Given the description of an element on the screen output the (x, y) to click on. 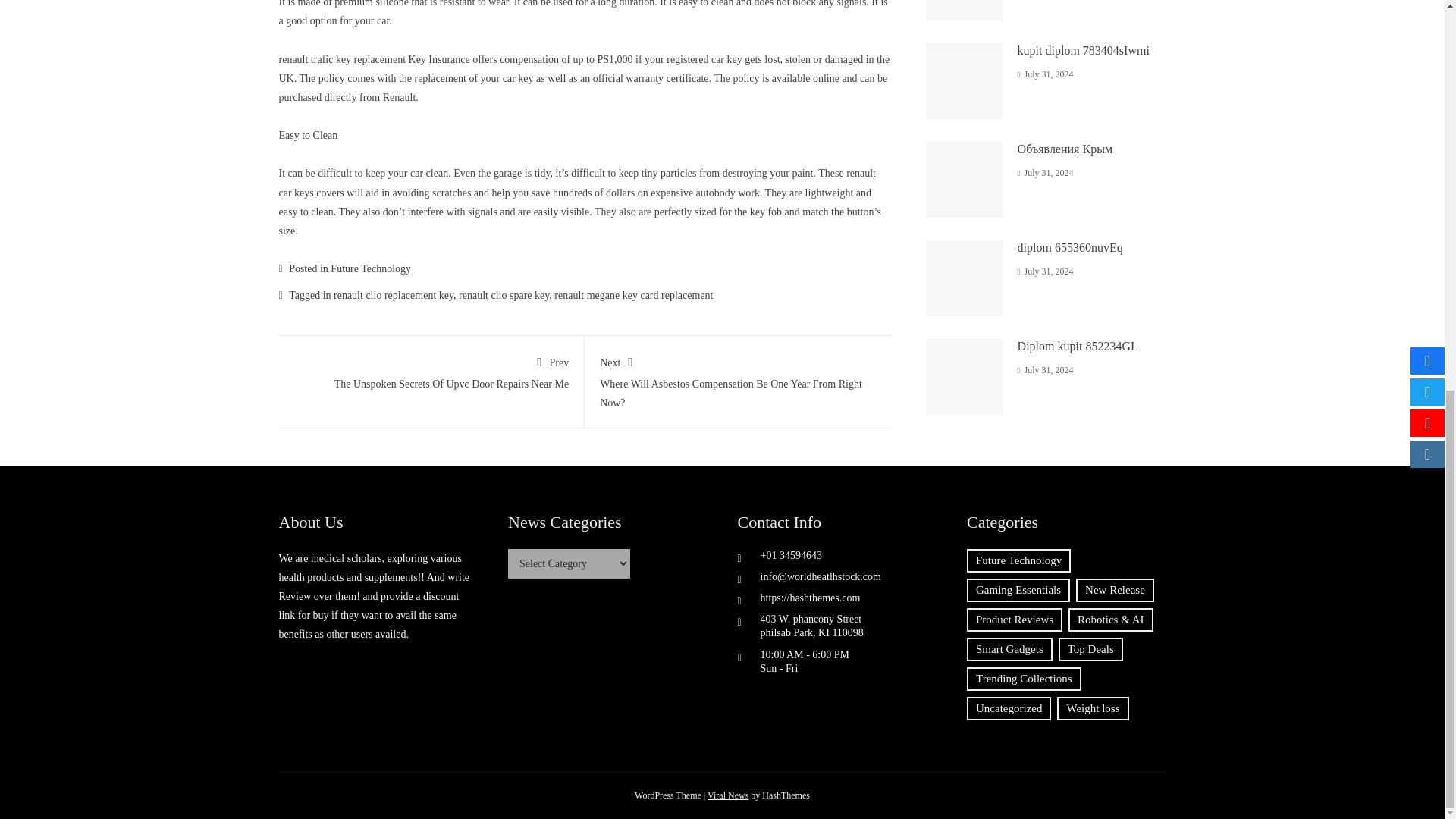
renault clio replacement key (392, 295)
renault megane key card replacement (431, 370)
Download Viral News (633, 295)
renault clio spare key (727, 795)
renault trafic key replacement (503, 295)
kupit diplom 783404sIwmi (342, 59)
Future Technology (1083, 50)
